Given the description of an element on the screen output the (x, y) to click on. 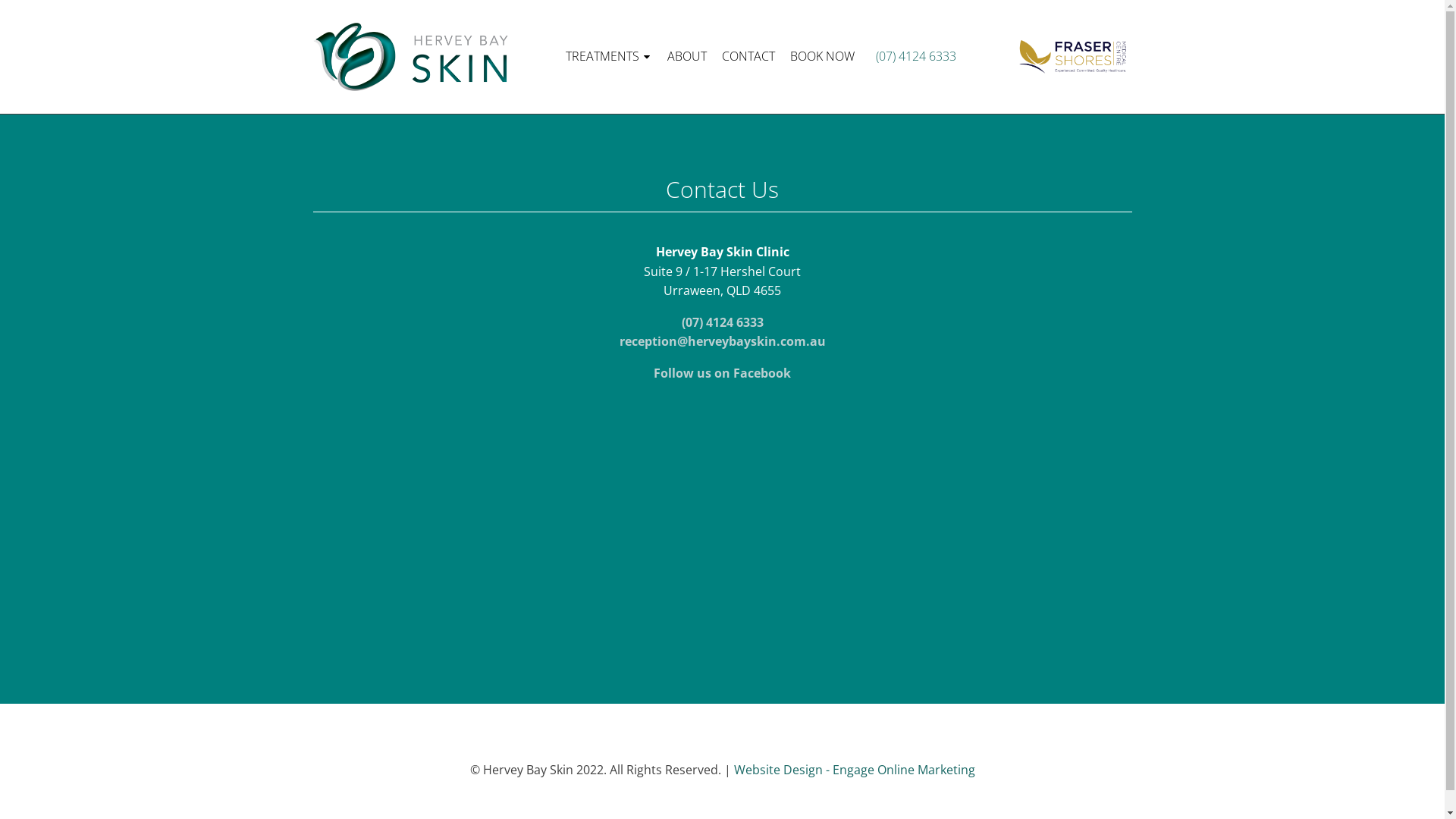
  (07) 4124 6333 Element type: text (912, 56)
BOOK NOW Element type: text (822, 56)
ABOUT Element type: text (686, 56)
TREATMENTS Element type: text (608, 56)
Website Design - Engage Online Marketing Element type: text (854, 769)
CONTACT Element type: text (748, 56)
Follow us on Facebook Element type: text (721, 372)
reception@herveybayskin.com.au Element type: text (721, 340)
(07) 4124 6333 Element type: text (721, 321)
